Given the description of an element on the screen output the (x, y) to click on. 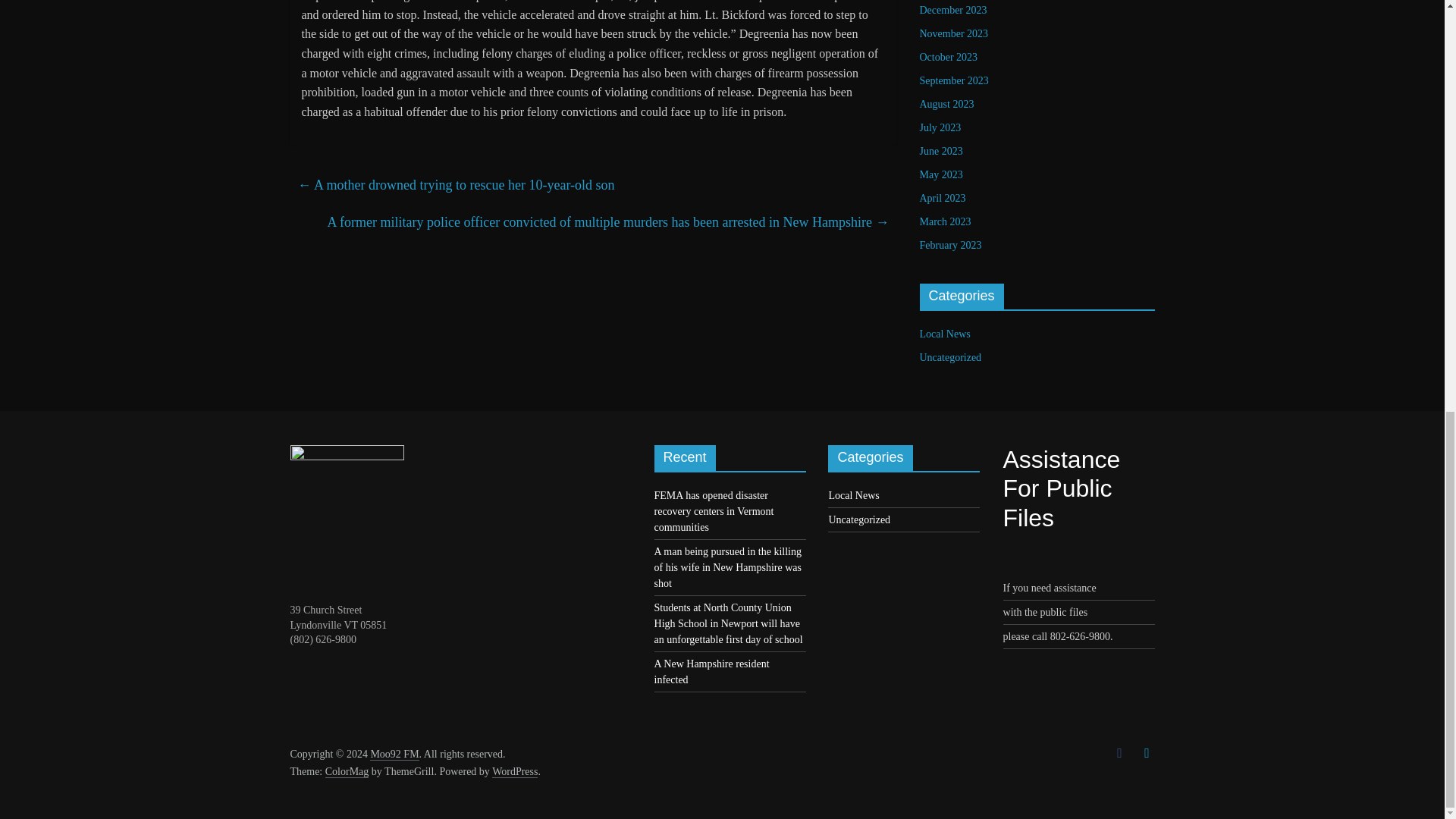
ColorMag (346, 771)
WordPress (514, 771)
Moo92 FM (394, 754)
